Given the description of an element on the screen output the (x, y) to click on. 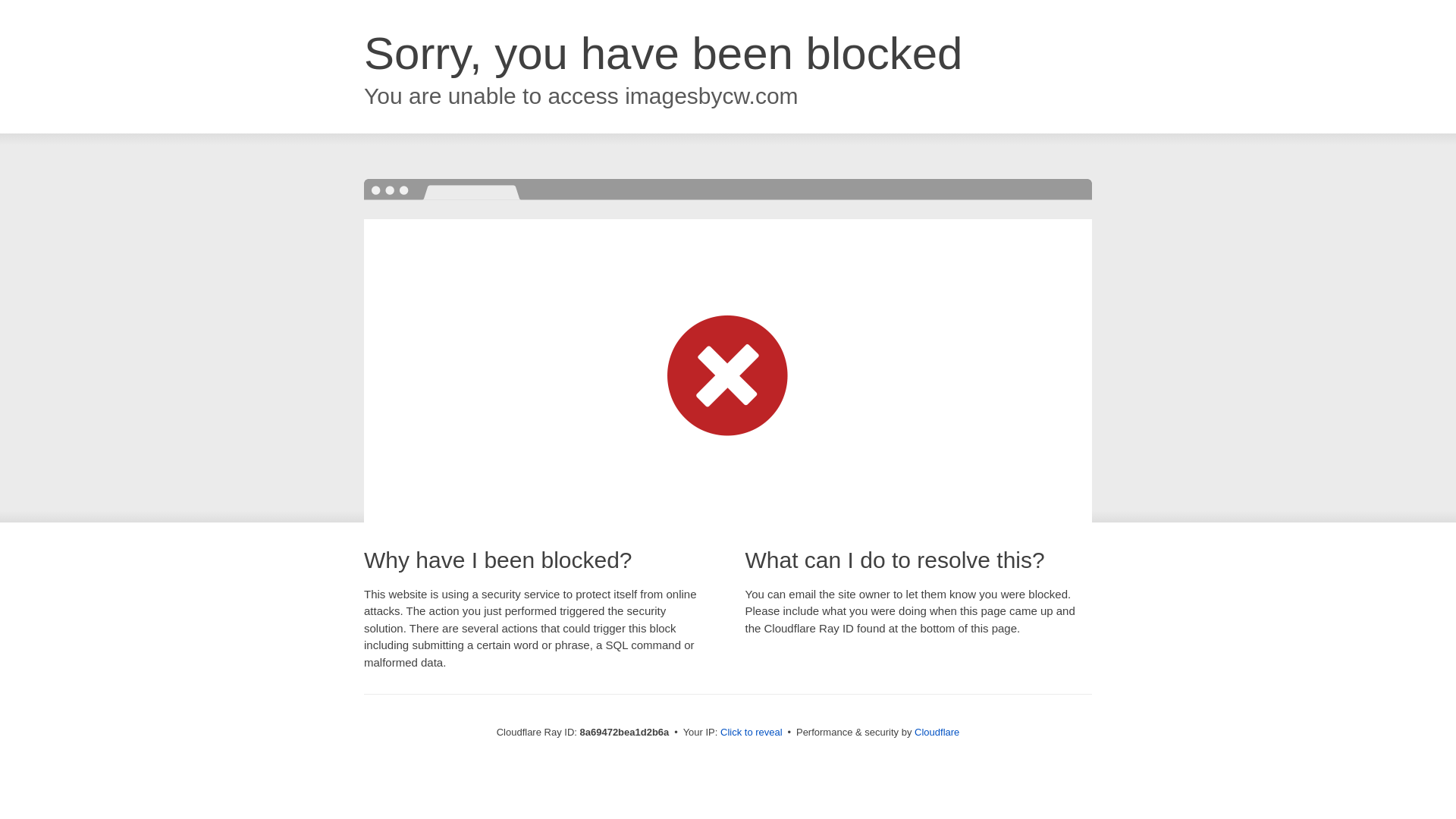
Cloudflare (936, 731)
Click to reveal (751, 732)
